Given the description of an element on the screen output the (x, y) to click on. 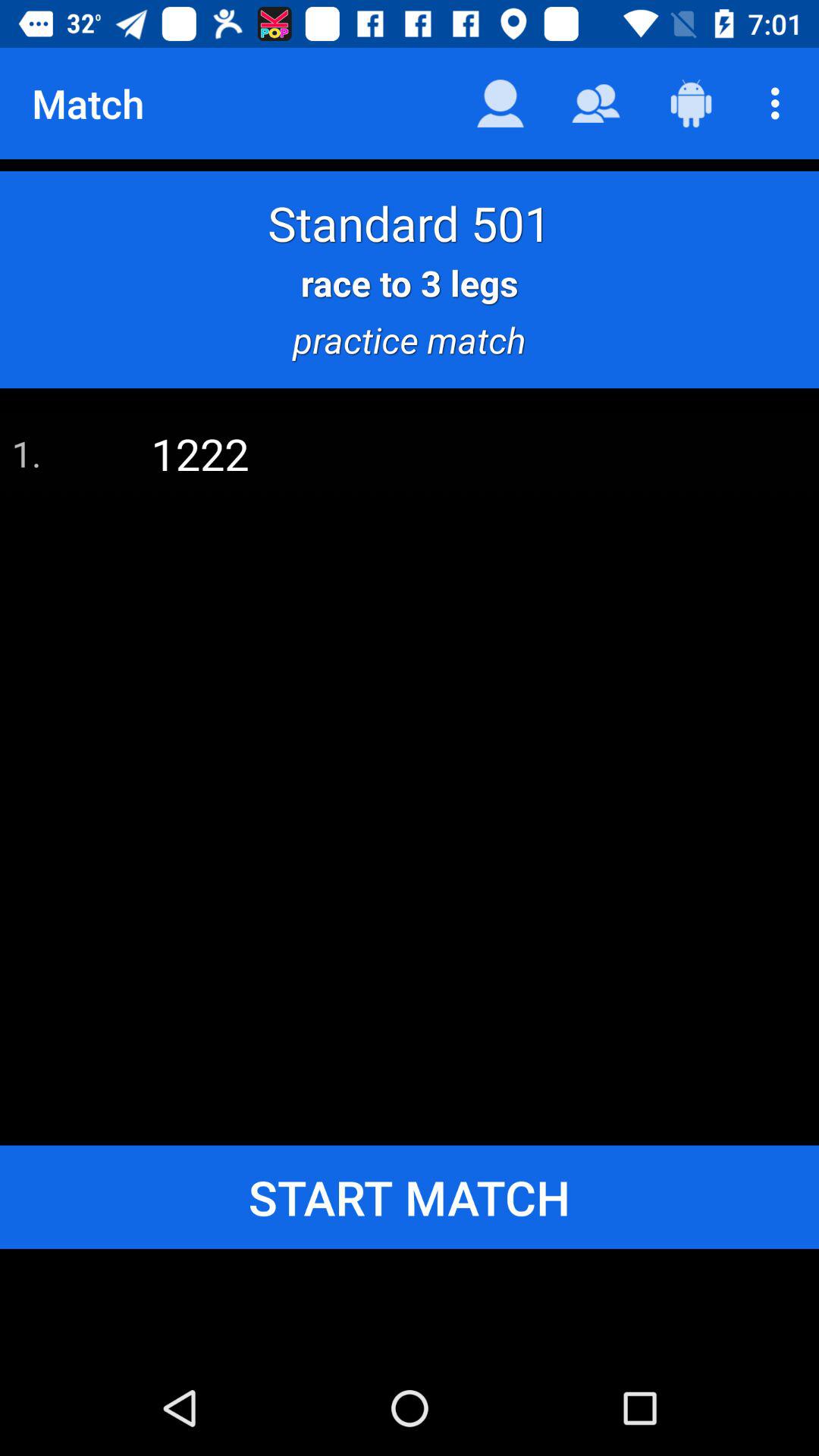
jump until start match icon (409, 1196)
